Given the description of an element on the screen output the (x, y) to click on. 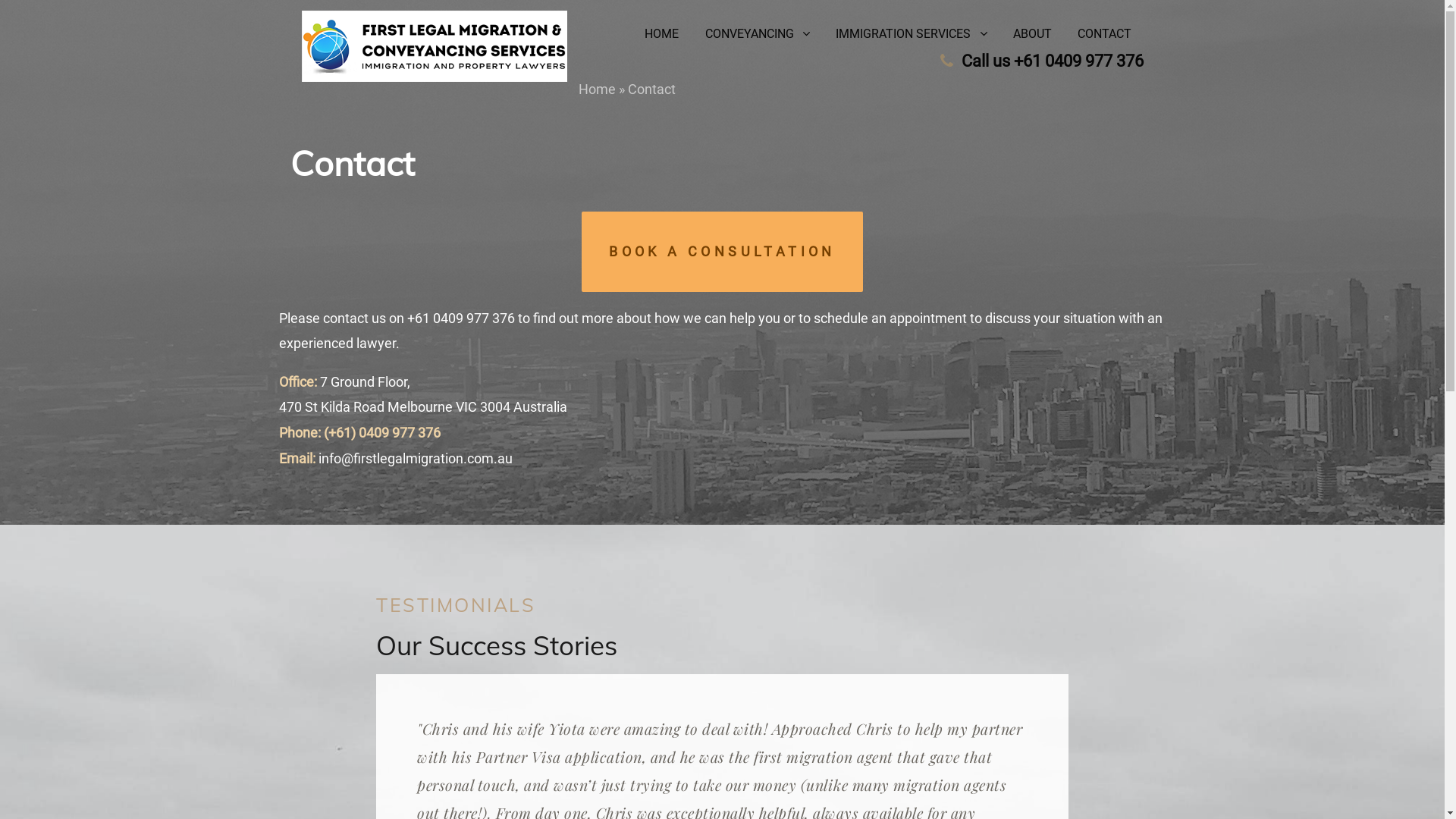
CONTACT Element type: text (1104, 33)
ABOUT Element type: text (1032, 33)
info@firstlegalmigration.com.au Element type: text (415, 458)
CONVEYANCING Element type: text (757, 33)
IMMIGRATION SERVICES Element type: text (911, 33)
HOME Element type: text (661, 33)
Home Element type: text (596, 89)
Call us +61 0409 977 376 Element type: text (1052, 60)
BOOK A CONSULTATION Element type: text (721, 251)
